Given the description of an element on the screen output the (x, y) to click on. 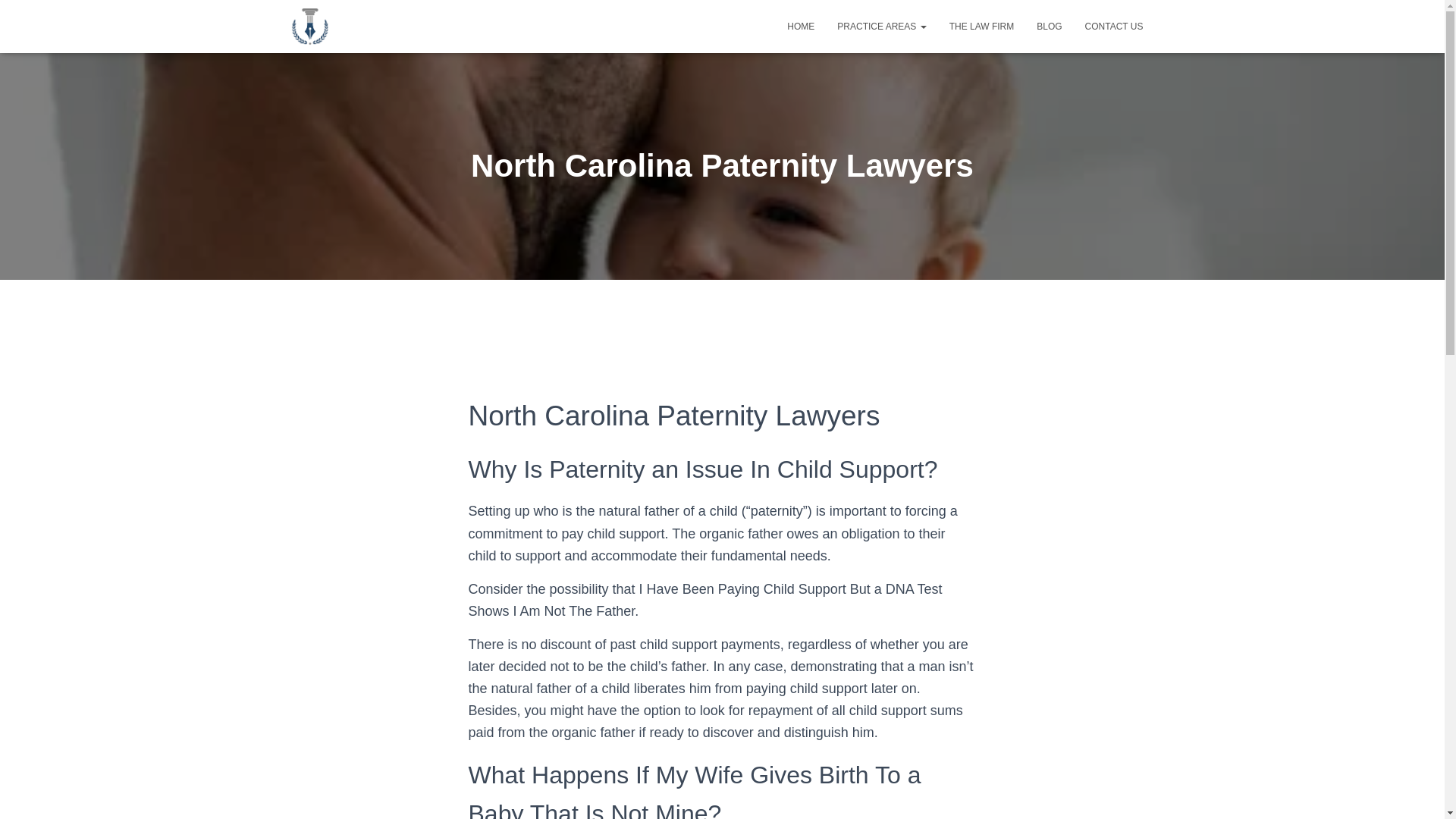
THE LAW FIRM (981, 26)
PRACTICE AREAS (881, 26)
HOME (800, 26)
Home (800, 26)
BLOG (1049, 26)
The Law Firm (981, 26)
Contact Us (1114, 26)
Practice Areas (881, 26)
CONTACT US (1114, 26)
